Given the description of an element on the screen output the (x, y) to click on. 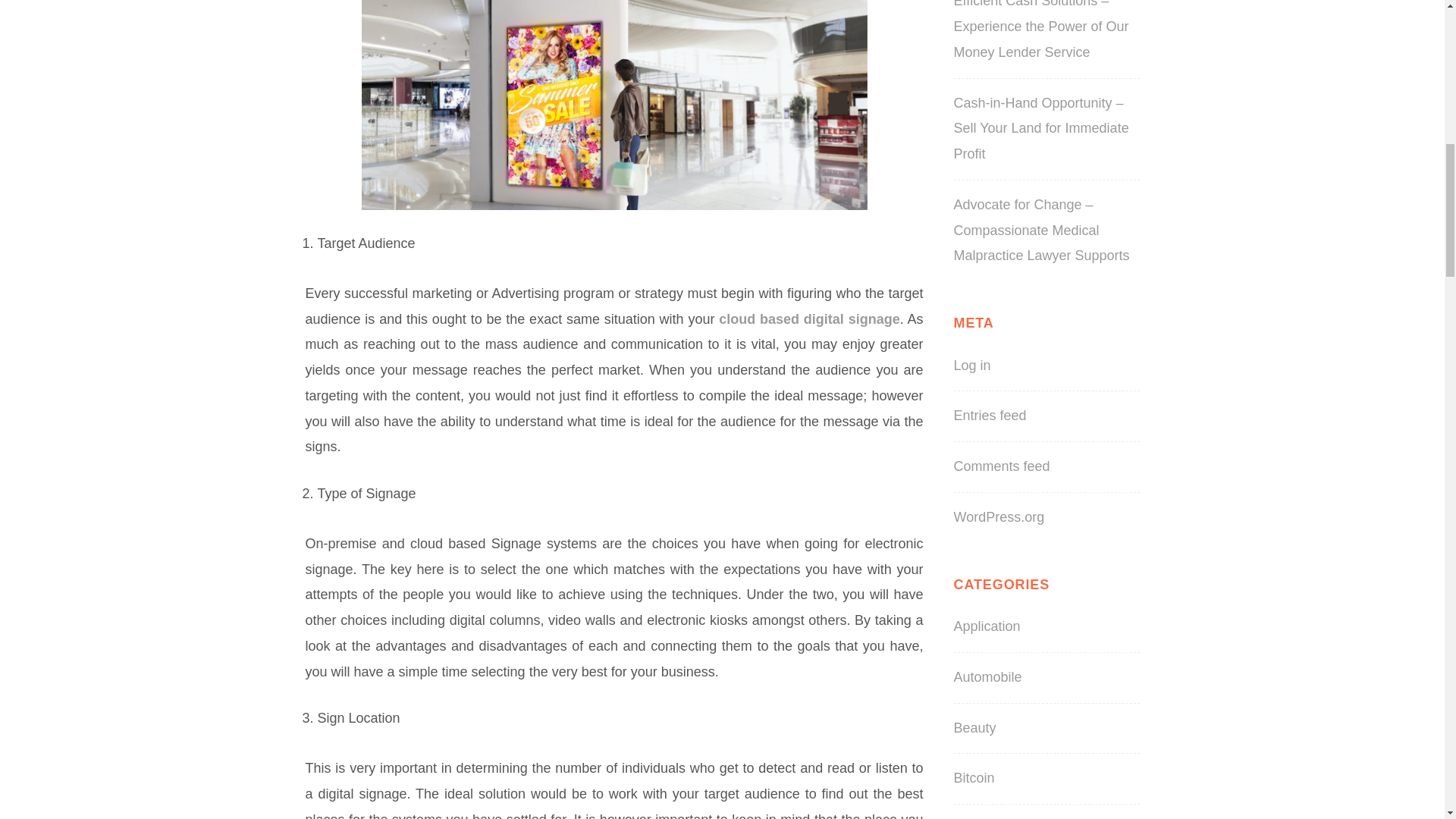
cloud based digital signage (809, 319)
Log in (972, 365)
Beauty (974, 727)
Entries feed (989, 415)
Automobile (987, 676)
Bitcoin (973, 777)
Application (986, 626)
Comments feed (1001, 466)
WordPress.org (999, 516)
